Given the description of an element on the screen output the (x, y) to click on. 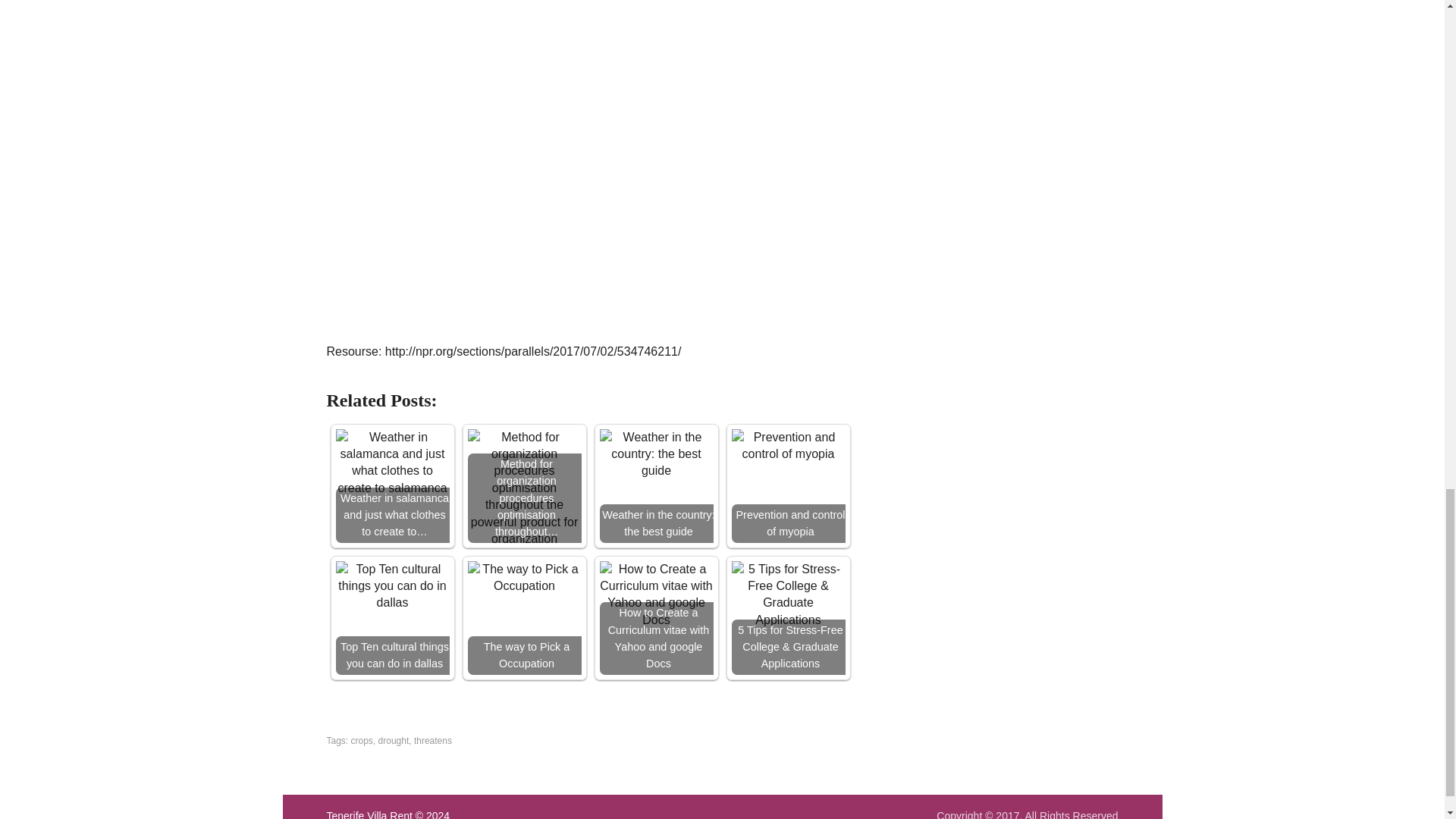
drought (393, 740)
Weather in the country: the best guide (655, 454)
Prevention and control of myopia (787, 485)
threatens (432, 740)
Top Ten cultural things you can do in dallas (391, 617)
Top Ten cultural things you can do in dallas (391, 586)
How to Create a Curriculum vitae with Yahoo and google Docs (655, 595)
Weather in the country: the best guide (655, 485)
crops (361, 740)
